Given the description of an element on the screen output the (x, y) to click on. 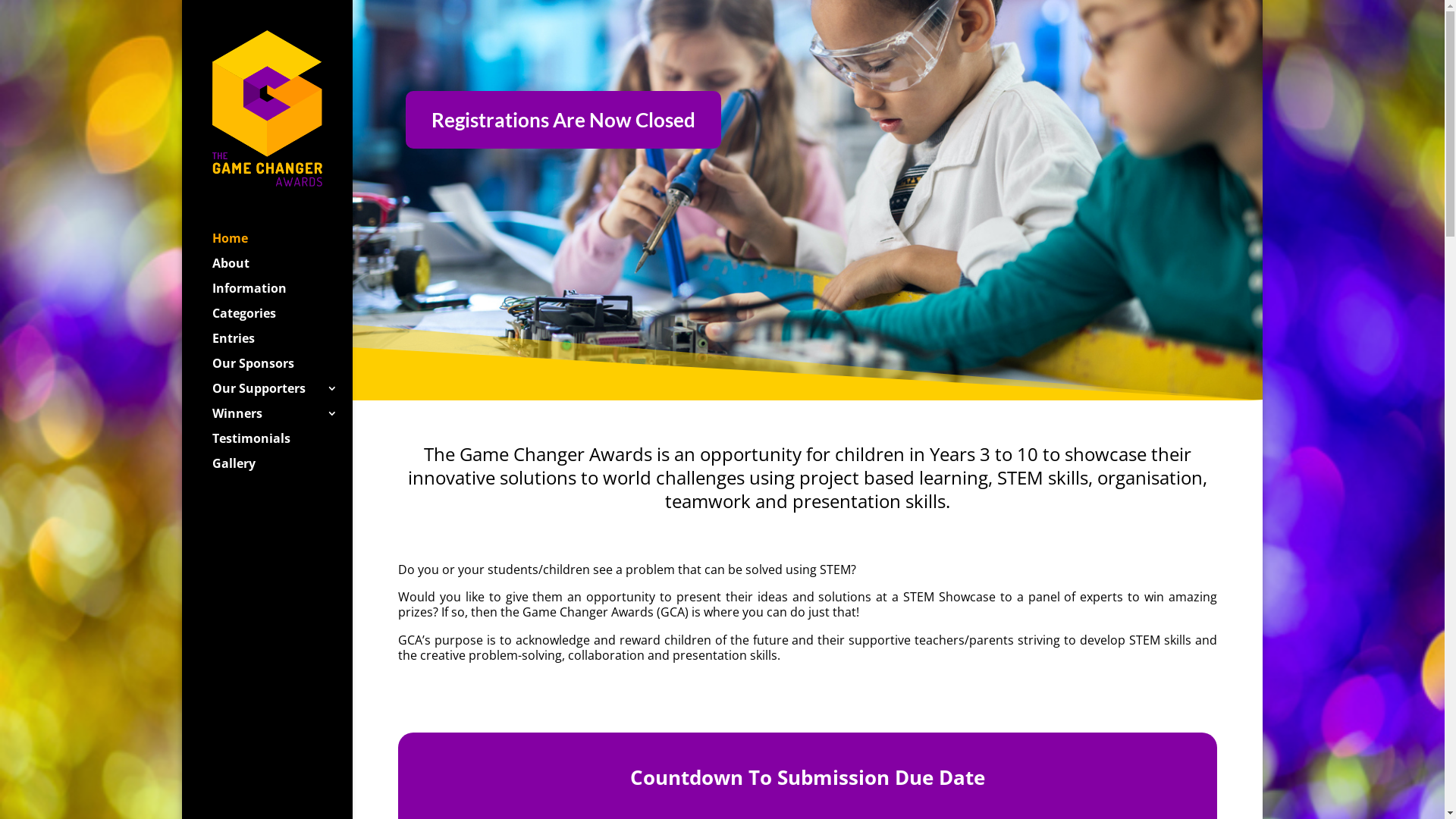
About Element type: text (282, 269)
Our Sponsors Element type: text (282, 369)
Information Element type: text (282, 294)
Winners Element type: text (282, 420)
Our Supporters Element type: text (282, 394)
Testimonials Element type: text (282, 445)
Entries Element type: text (282, 344)
Home Element type: text (282, 244)
Gallery Element type: text (282, 470)
Categories Element type: text (282, 319)
Registrations Are Now Closed Element type: text (563, 119)
